Given the description of an element on the screen output the (x, y) to click on. 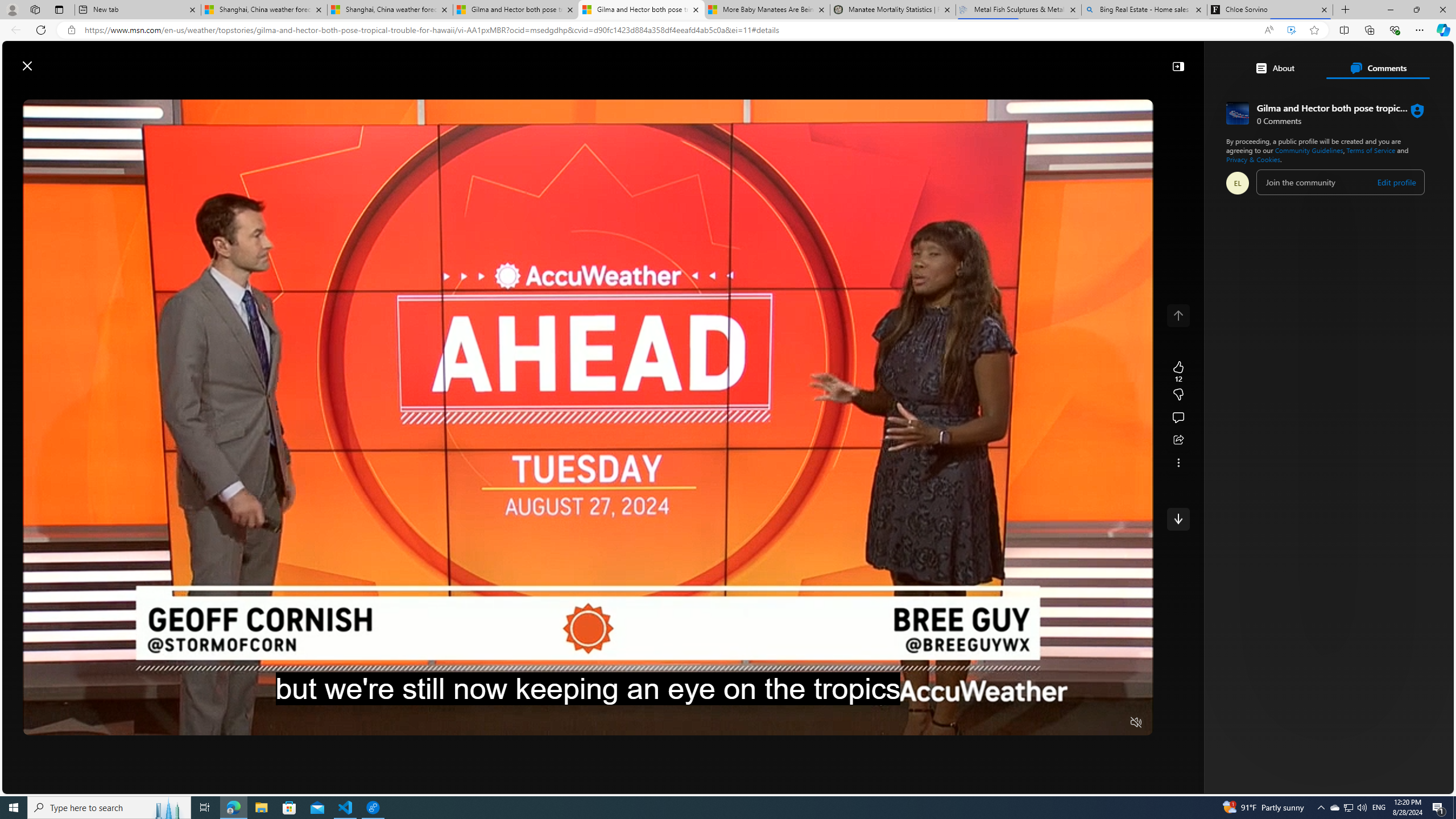
About (1274, 67)
12 Like (1178, 371)
Seek Back (62, 723)
Progress Bar (587, 708)
Share this story (1178, 440)
